Given the description of an element on the screen output the (x, y) to click on. 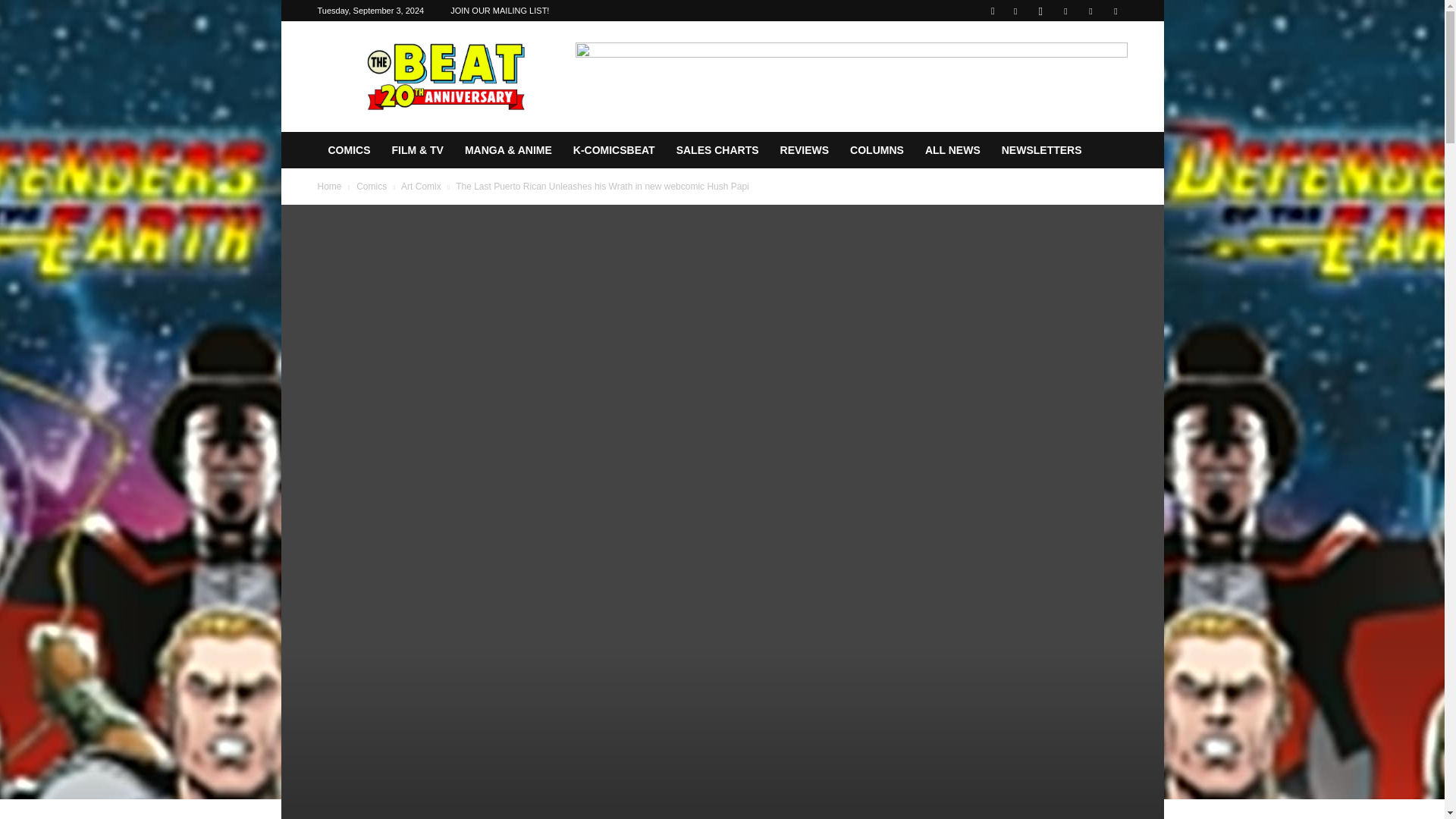
COMICS (348, 149)
Twitter (1090, 10)
RSS (1065, 10)
REVIEWS (805, 149)
NEWSLETTERS (1042, 149)
Youtube (1114, 10)
Search (1085, 64)
Instagram (1040, 10)
ALL NEWS (952, 149)
JOIN OUR MAILING LIST! (498, 10)
